Given the description of an element on the screen output the (x, y) to click on. 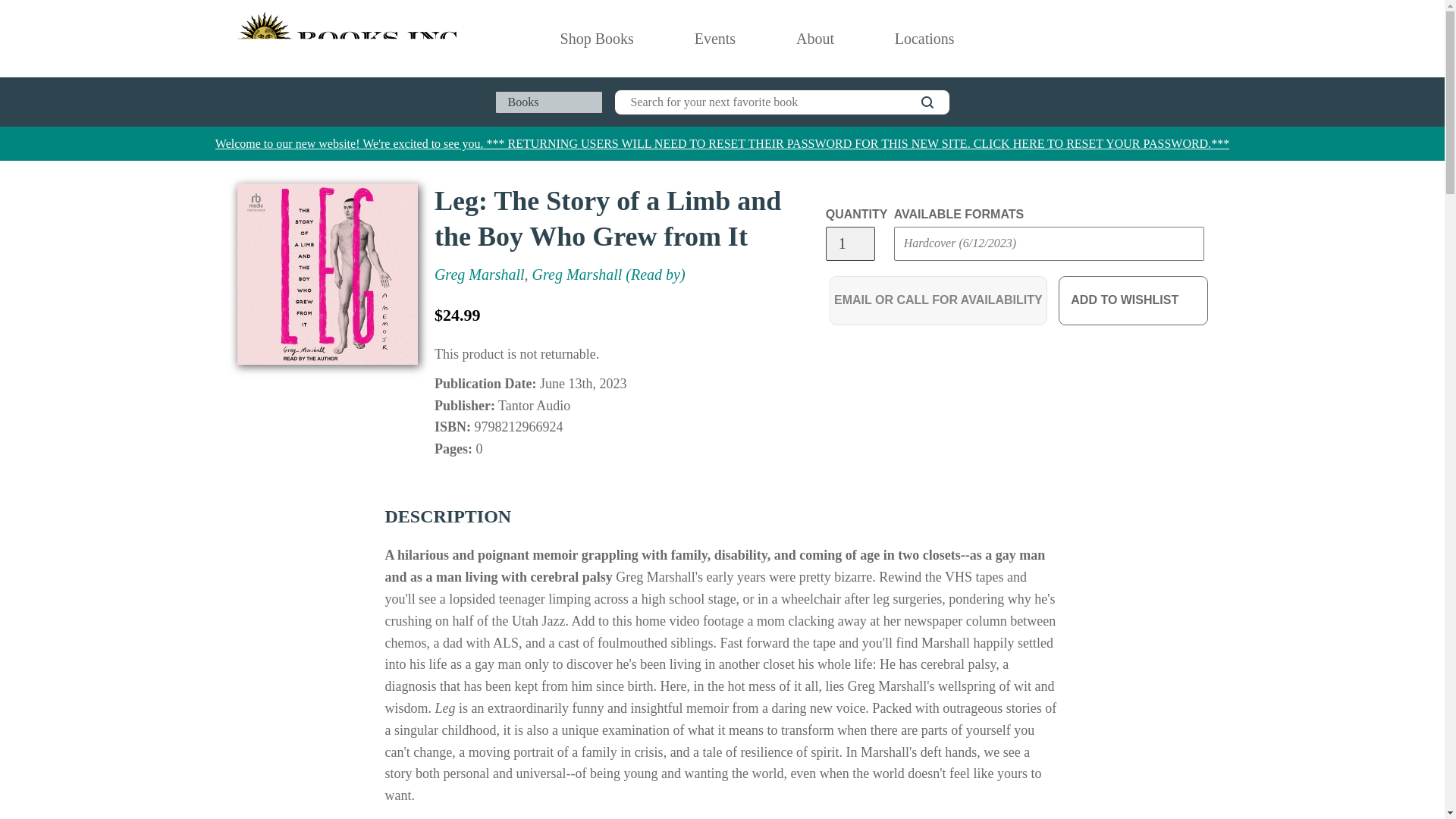
1 (850, 243)
Events (715, 38)
Wishlists (1168, 38)
Wishlist (1168, 38)
Cart (1201, 38)
Log in (1134, 38)
Cart (1201, 38)
Locations (925, 38)
Email or Call for Availability (937, 300)
Log in (1134, 38)
